Given the description of an element on the screen output the (x, y) to click on. 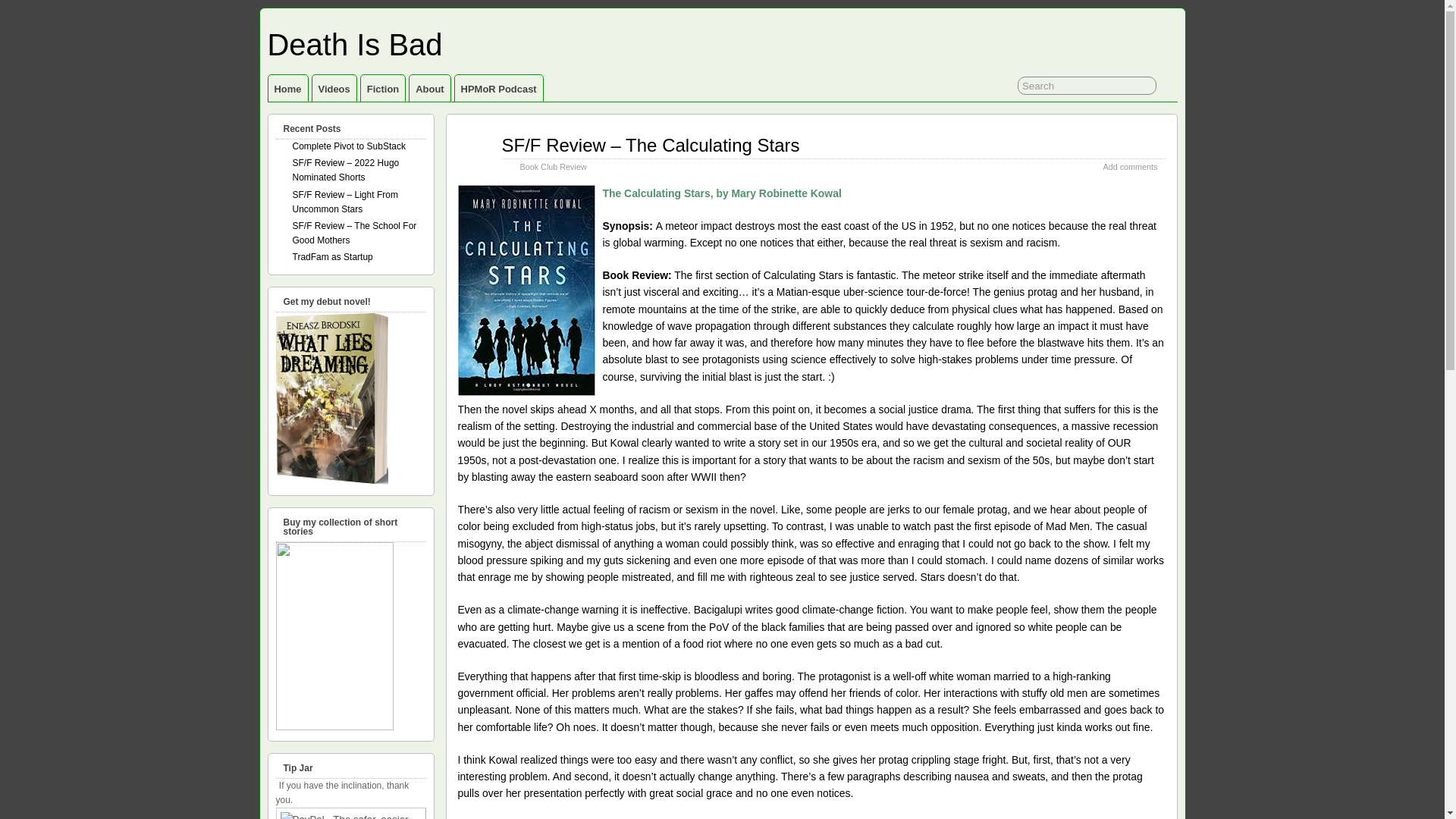
Complete Pivot to SubStack (349, 145)
About (429, 88)
Death Is Bad (354, 44)
Book Club Review (552, 166)
Add comments (1129, 166)
Search (1086, 85)
Fiction (382, 88)
Videos (334, 88)
Search (1086, 85)
TradFam as Startup (332, 256)
